Given the description of an element on the screen output the (x, y) to click on. 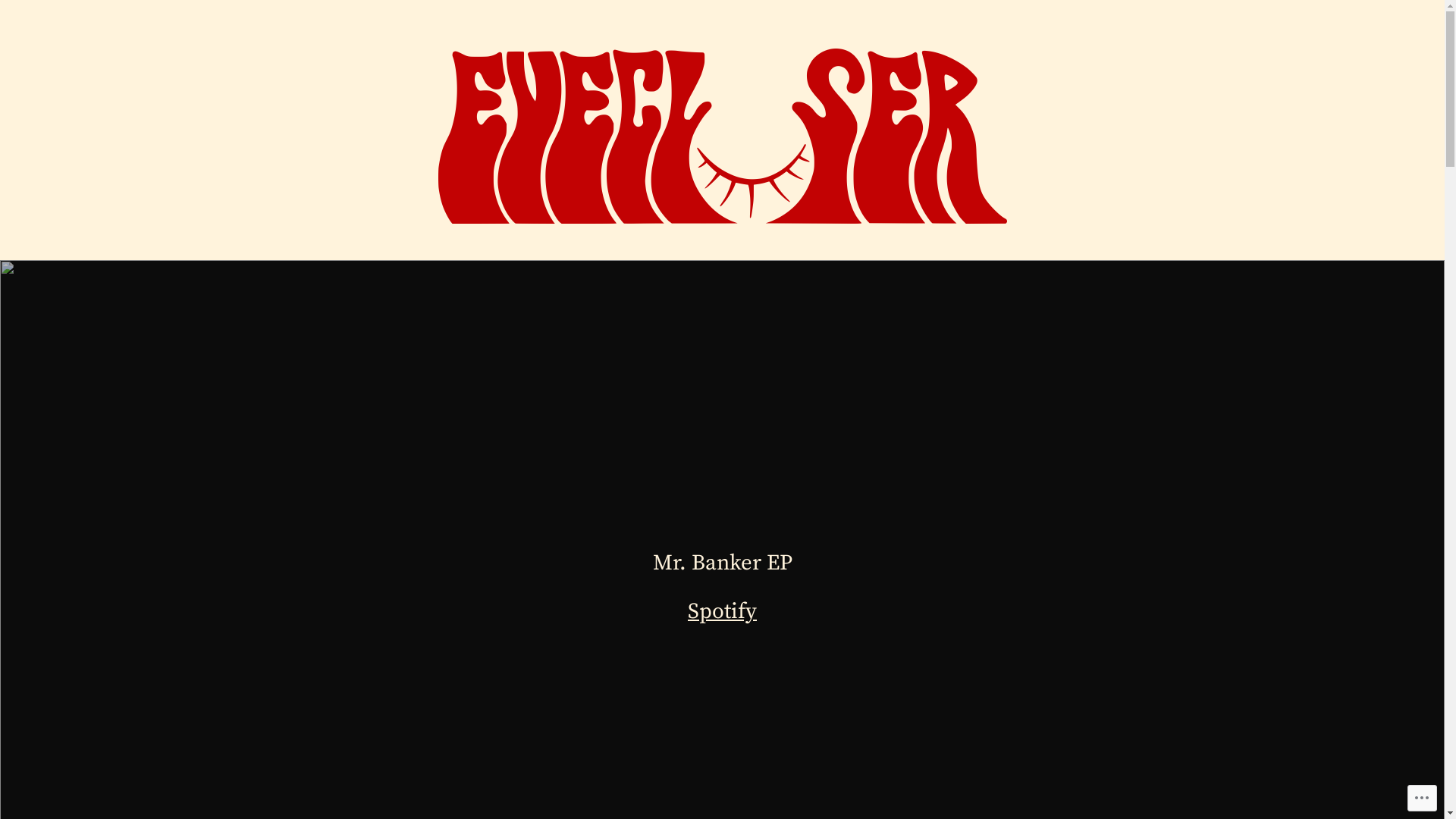
Spotify Element type: text (721, 611)
Eyecloser Element type: text (396, 241)
